Given the description of an element on the screen output the (x, y) to click on. 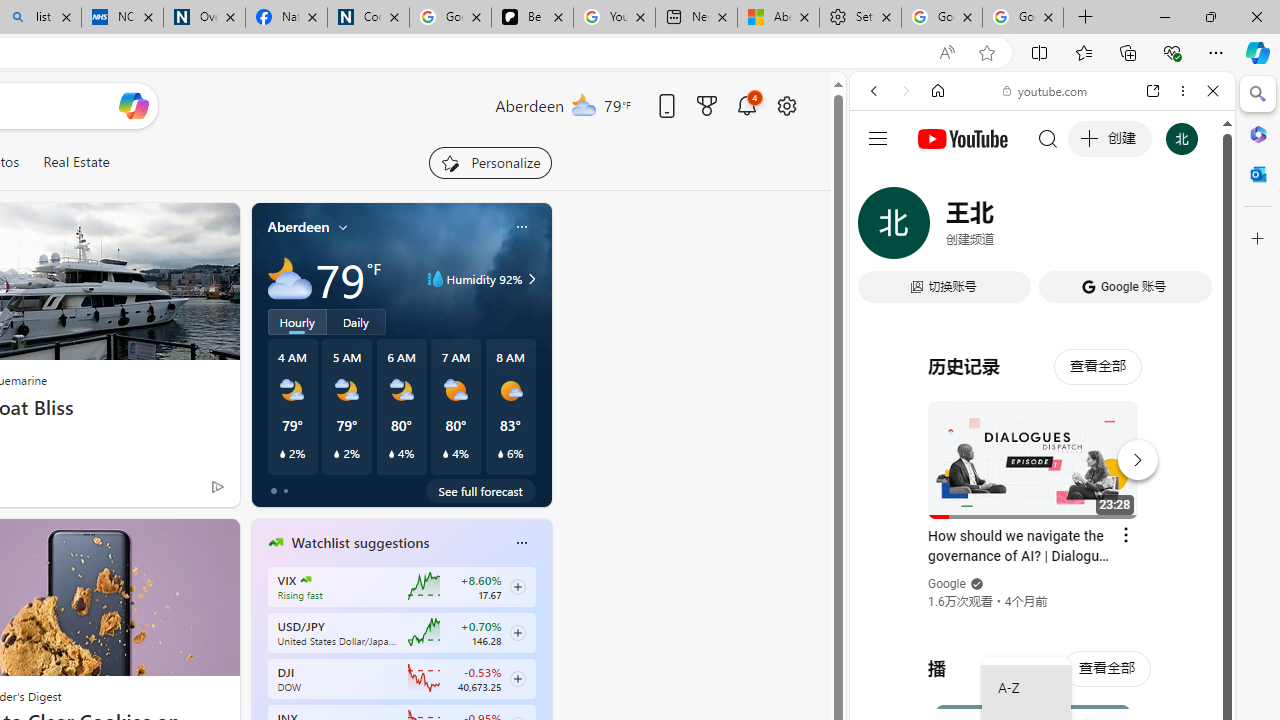
Hide this story (178, 542)
